Given the description of an element on the screen output the (x, y) to click on. 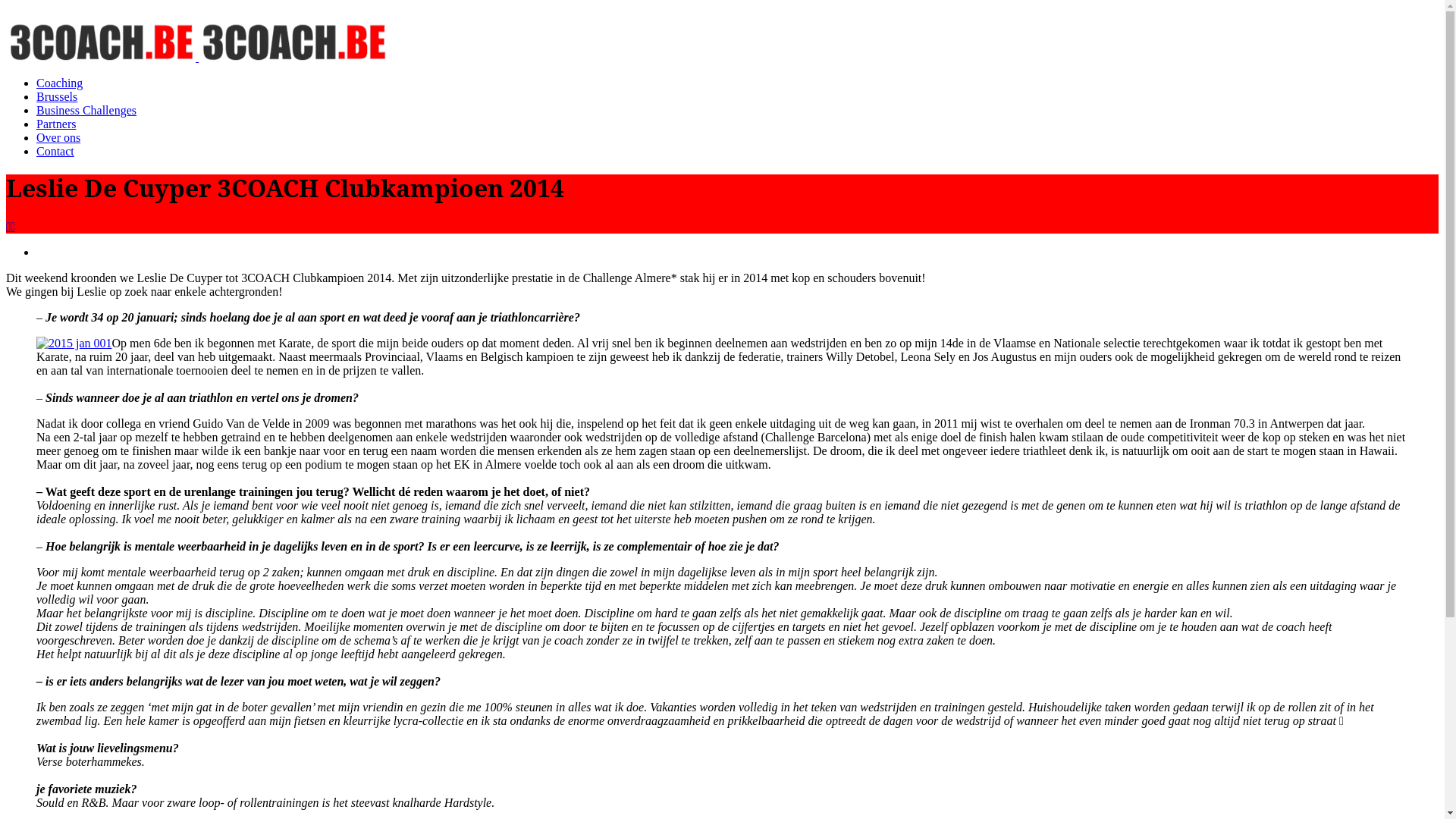
Contact Element type: text (55, 150)
Coaching Element type: text (59, 82)
Over ons Element type: text (58, 137)
Partners Element type: text (55, 123)
Brussels Element type: text (56, 96)
Business Challenges Element type: text (86, 109)
